Given the description of an element on the screen output the (x, y) to click on. 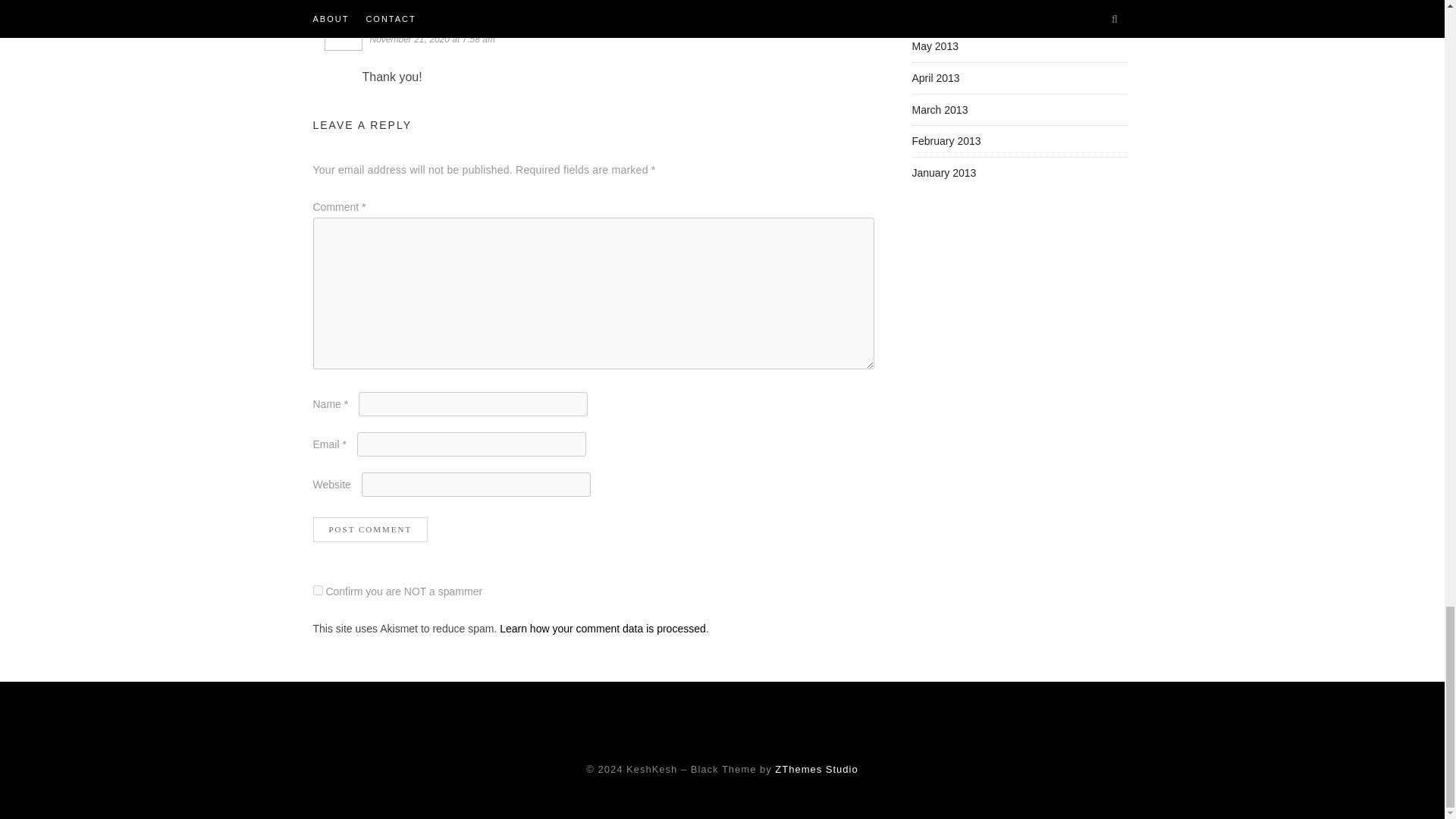
Post Comment (370, 529)
Learn how your comment data is processed (602, 628)
Post Comment (370, 529)
on (317, 590)
REPLY (859, 22)
November 21, 2020 at 7:58 am (434, 38)
